Given the description of an element on the screen output the (x, y) to click on. 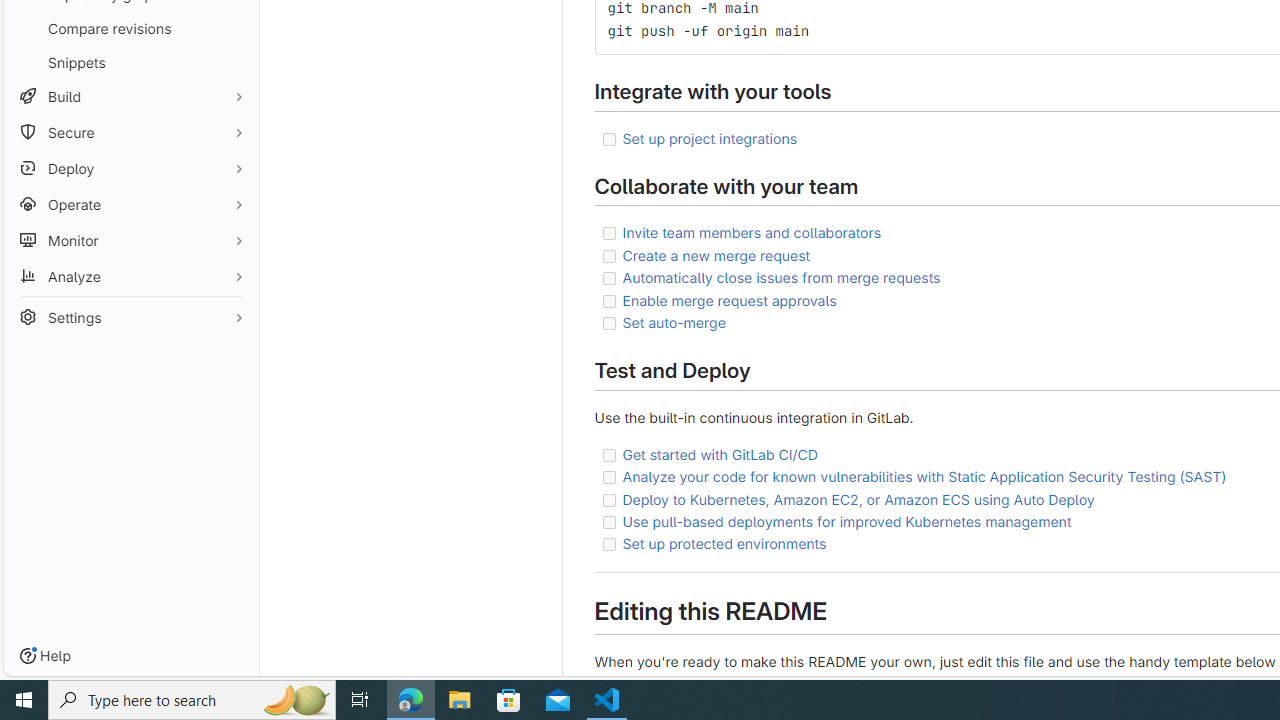
Set auto-merge (673, 322)
Secure (130, 132)
Pin Snippets (234, 61)
Automatically close issues from merge requests (781, 278)
Help (45, 655)
Pin Compare revisions (234, 28)
Set up protected environments (724, 543)
Analyze (130, 276)
Invite team members and collaborators (751, 232)
Analyze (130, 276)
Operate (130, 204)
Enable merge request approvals (729, 299)
